Given the description of an element on the screen output the (x, y) to click on. 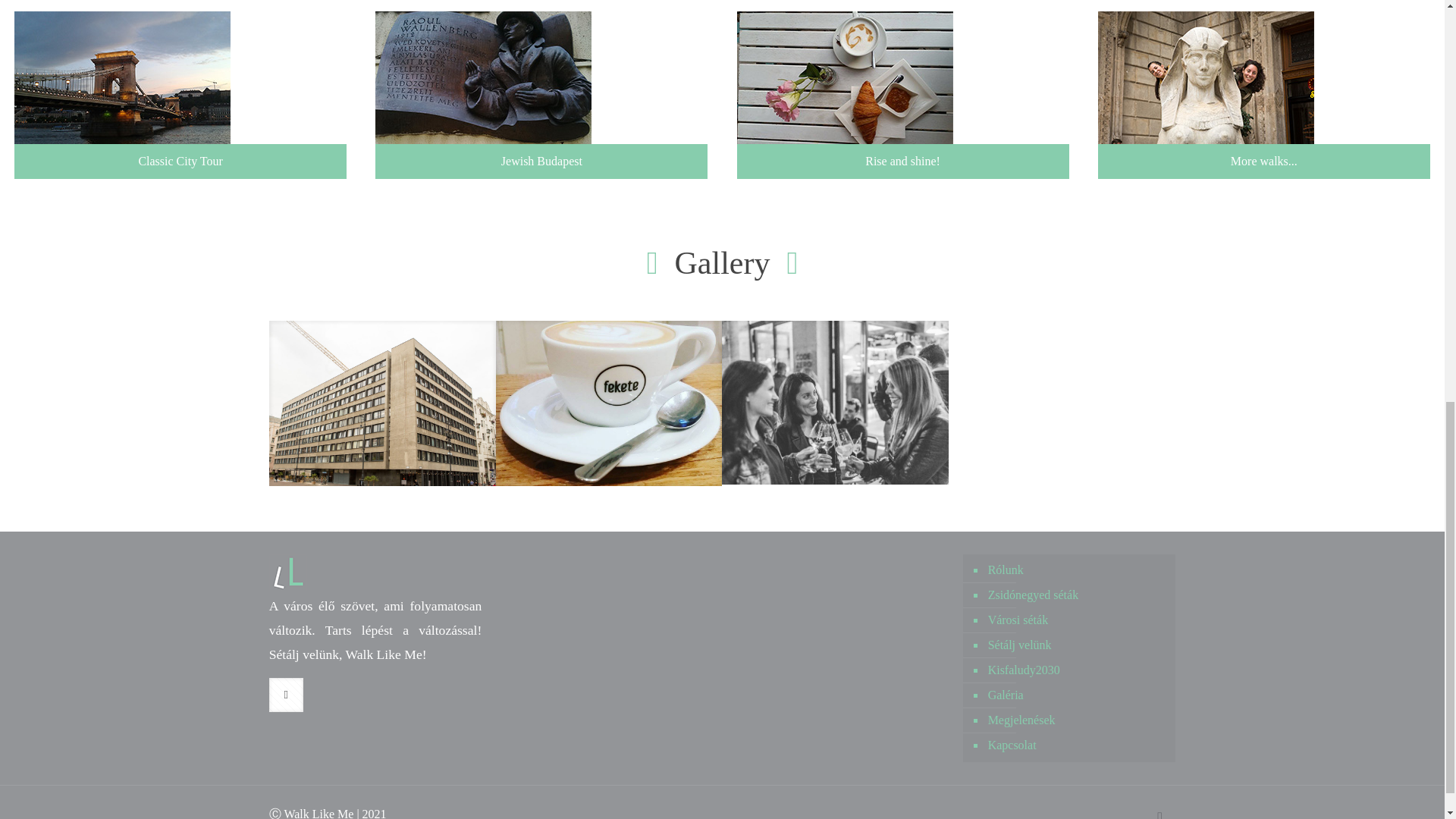
Kisfaludy2030 (1077, 670)
Kapcsolat (1077, 745)
Classic City Tour (180, 89)
More walks... (1263, 89)
Rise and shine! (902, 89)
Jewish Budapest (541, 89)
